Given the description of an element on the screen output the (x, y) to click on. 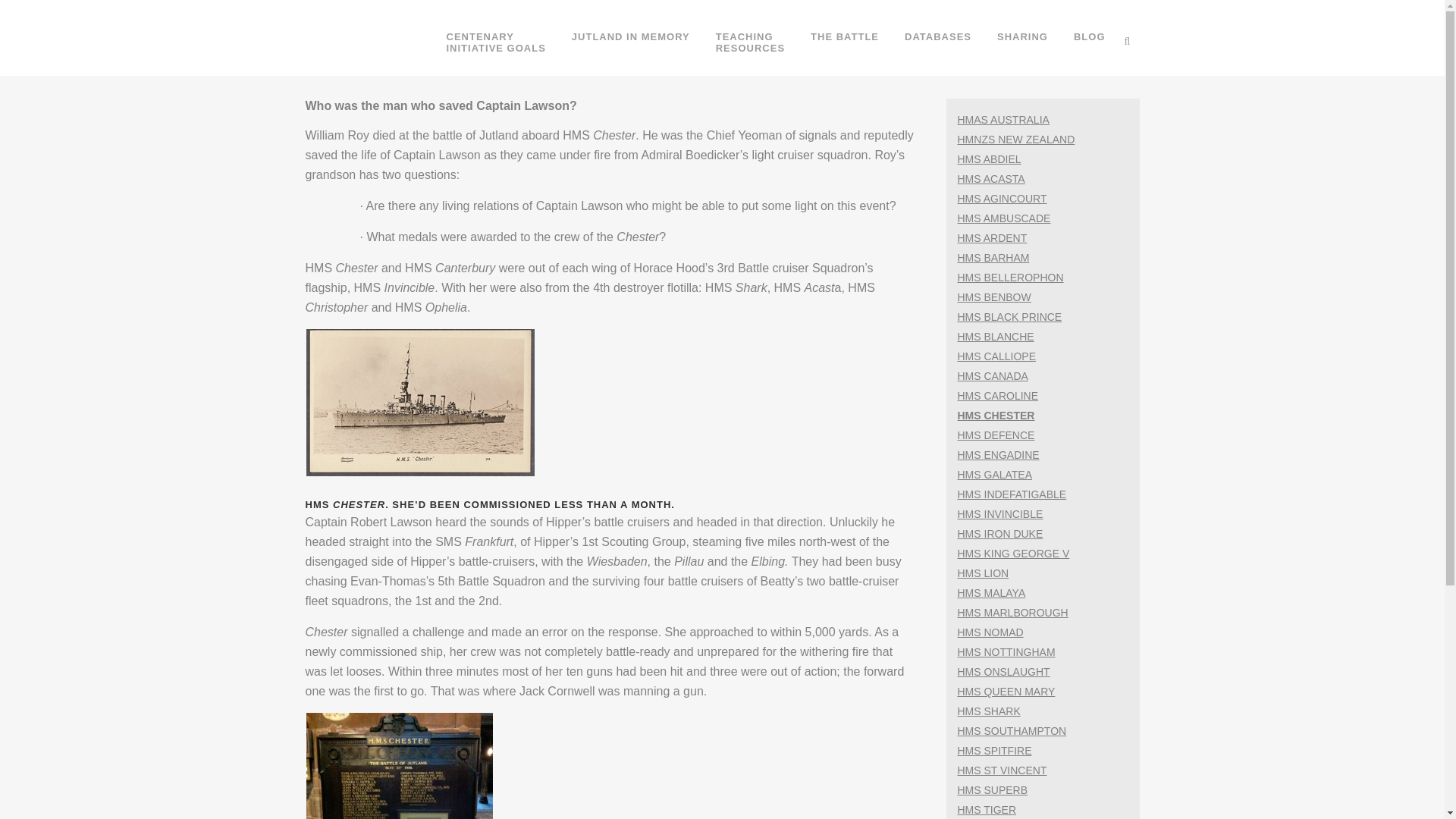
HMS ABDIEL (988, 159)
HMS BELLEROPHON (750, 42)
HMS BARHAM (1009, 277)
HMAS AUSTRALIA (992, 257)
HMS BLANCHE (1002, 119)
THE BATTLE (994, 336)
HMS ARDENT (844, 37)
DATABASES (991, 237)
HMS BENBOW (937, 37)
